Given the description of an element on the screen output the (x, y) to click on. 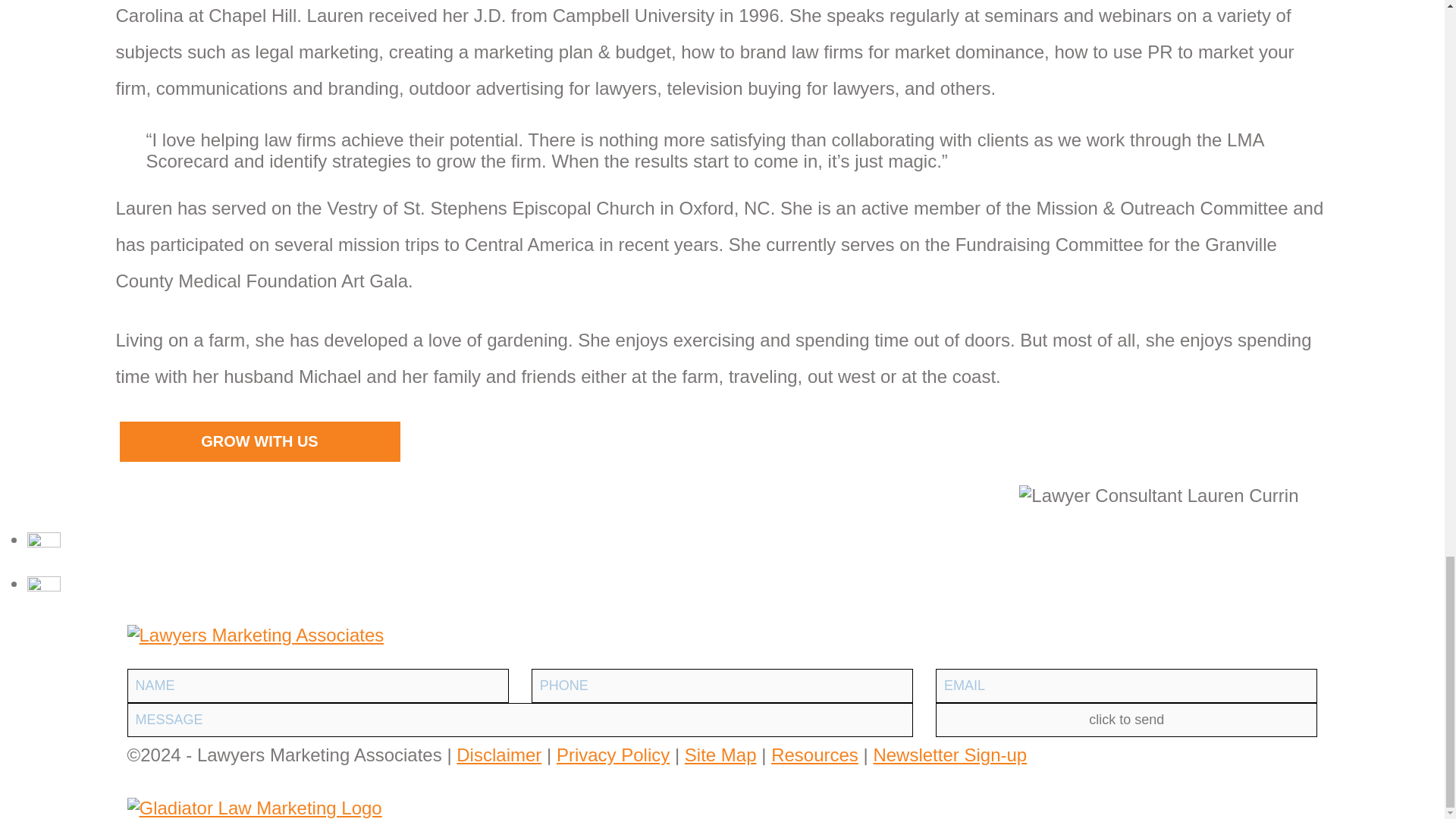
Disclaimer (499, 755)
click to send (1126, 719)
Privacy Policy (612, 755)
GROW WITH US (259, 441)
Newsletter Sign-up (949, 755)
Resources (815, 755)
click to send (1126, 719)
Site Map (720, 755)
